Given the description of an element on the screen output the (x, y) to click on. 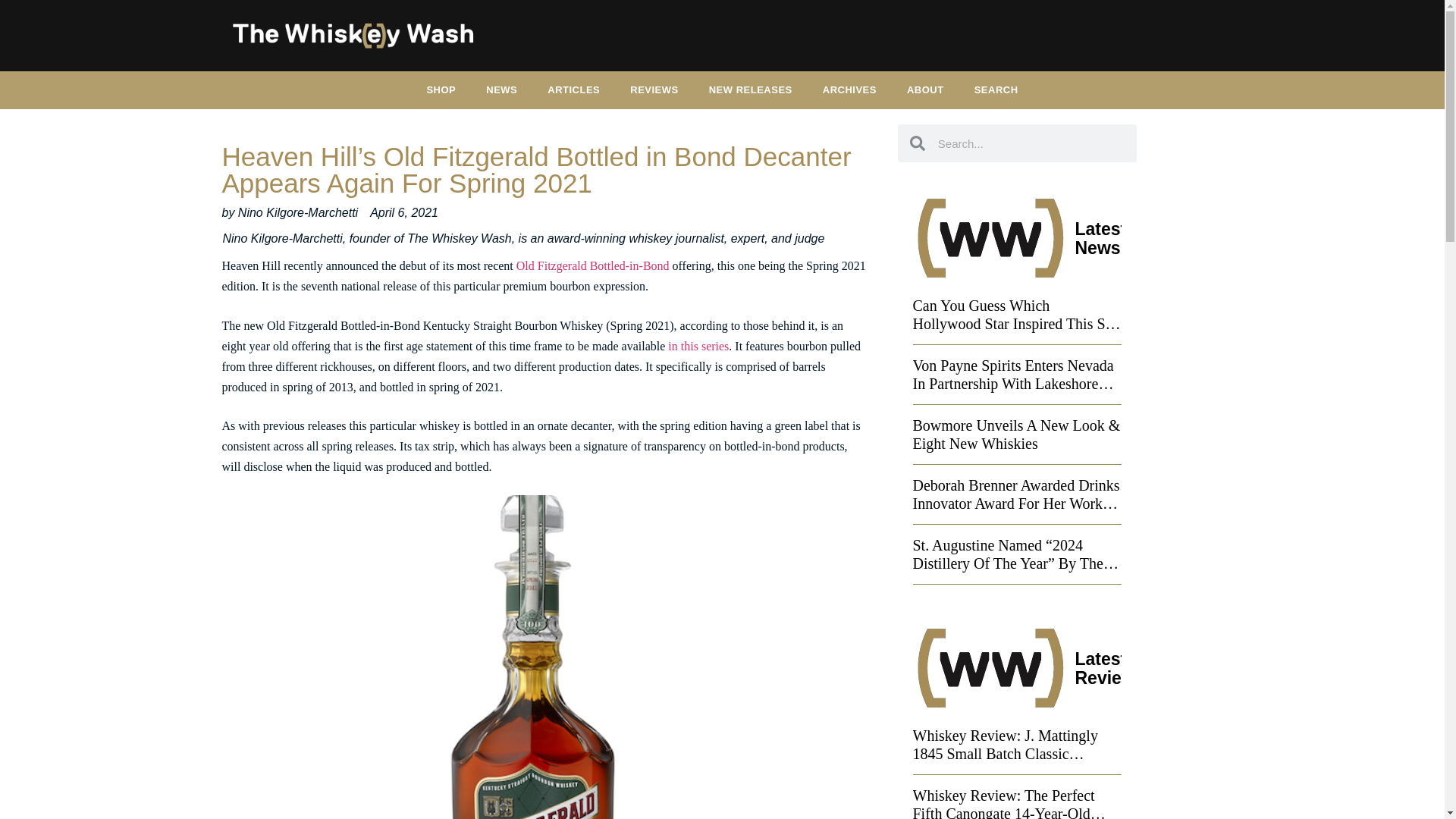
ABOUT (925, 89)
NEW RELEASES (751, 89)
ARCHIVES (849, 89)
ARTICLES (573, 89)
in this series (698, 345)
SHOP (440, 89)
NEWS (501, 89)
REVIEWS (653, 89)
Old Fitzgerald Bottled-in-Bond (592, 265)
by Nino Kilgore-Marchetti (289, 212)
